Given the description of an element on the screen output the (x, y) to click on. 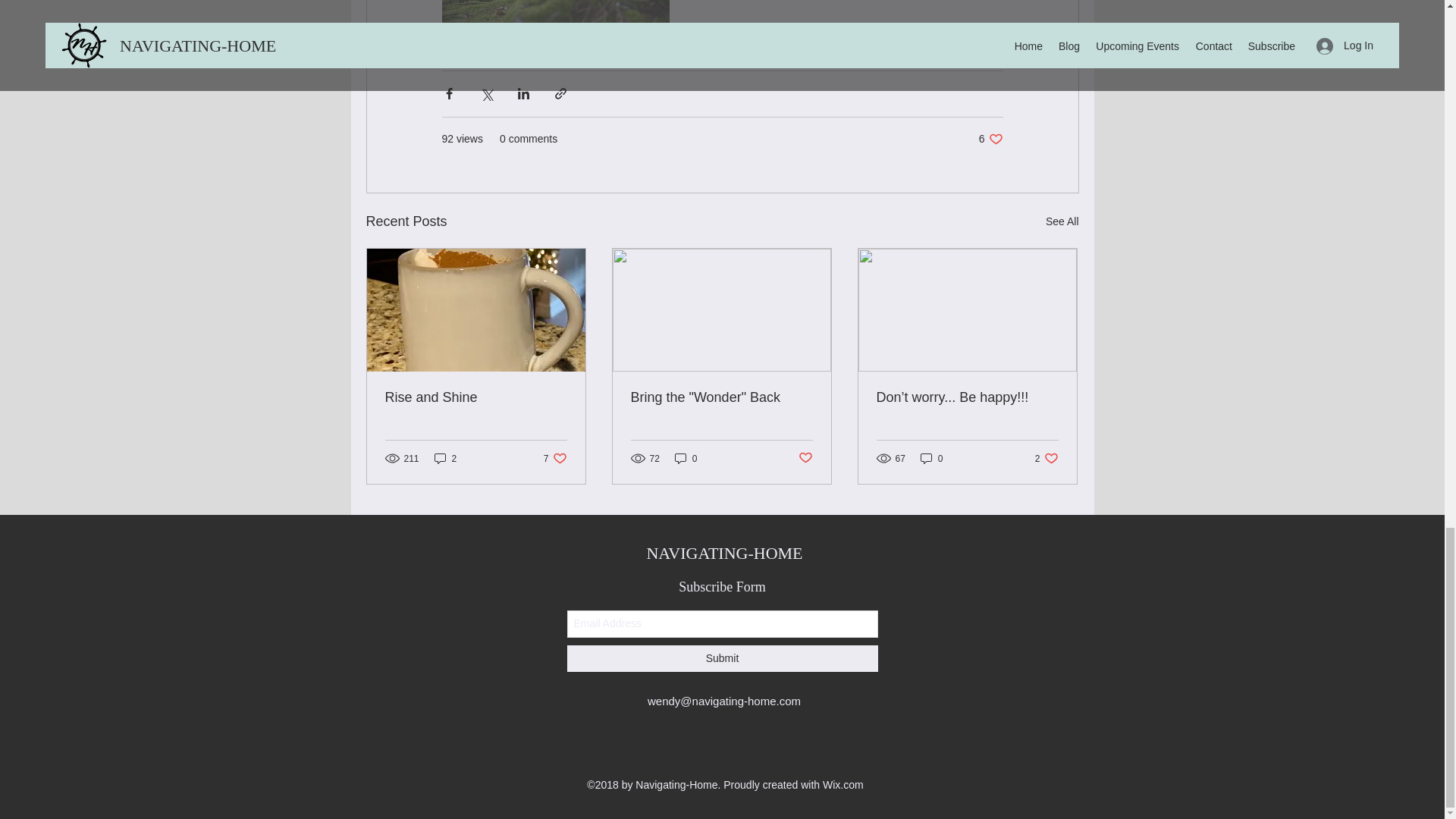
0 (685, 458)
Post not marked as liked (804, 458)
Bring the "Wonder" Back (721, 397)
Rise and Shine (476, 397)
See All (1061, 221)
0 (931, 458)
2 (445, 458)
Submit (1046, 458)
